Given the description of an element on the screen output the (x, y) to click on. 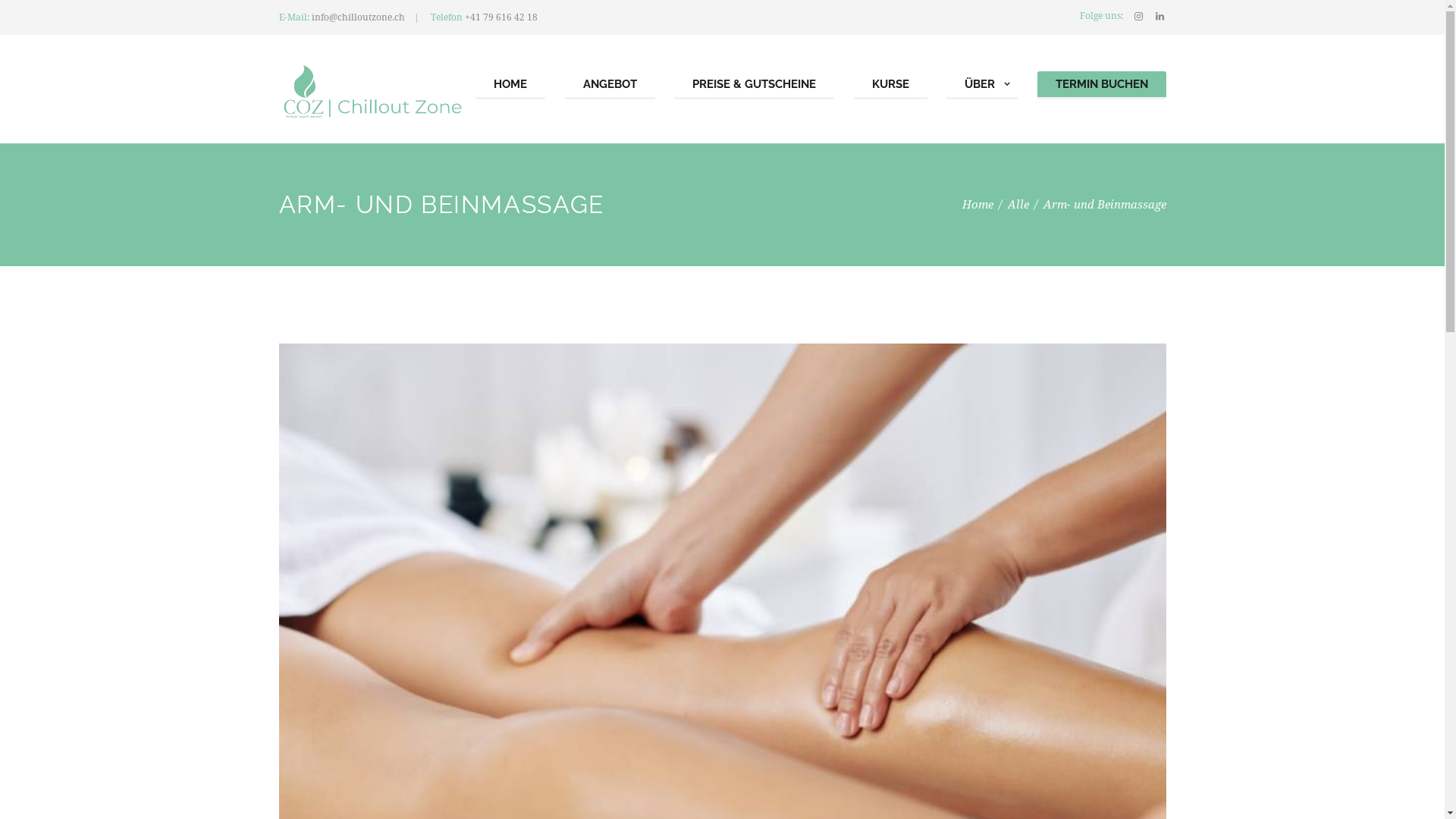
info@chilloutzone.ch Element type: text (357, 17)
TERMIN BUCHEN Element type: text (1101, 85)
Alle Element type: text (1017, 204)
Home Element type: text (976, 204)
+41 79 616 42 18 Element type: text (500, 17)
KURSE Element type: text (890, 85)
HOME Element type: text (510, 85)
ANGEBOT Element type: text (609, 85)
PREISE & GUTSCHEINE Element type: text (754, 85)
